Given the description of an element on the screen output the (x, y) to click on. 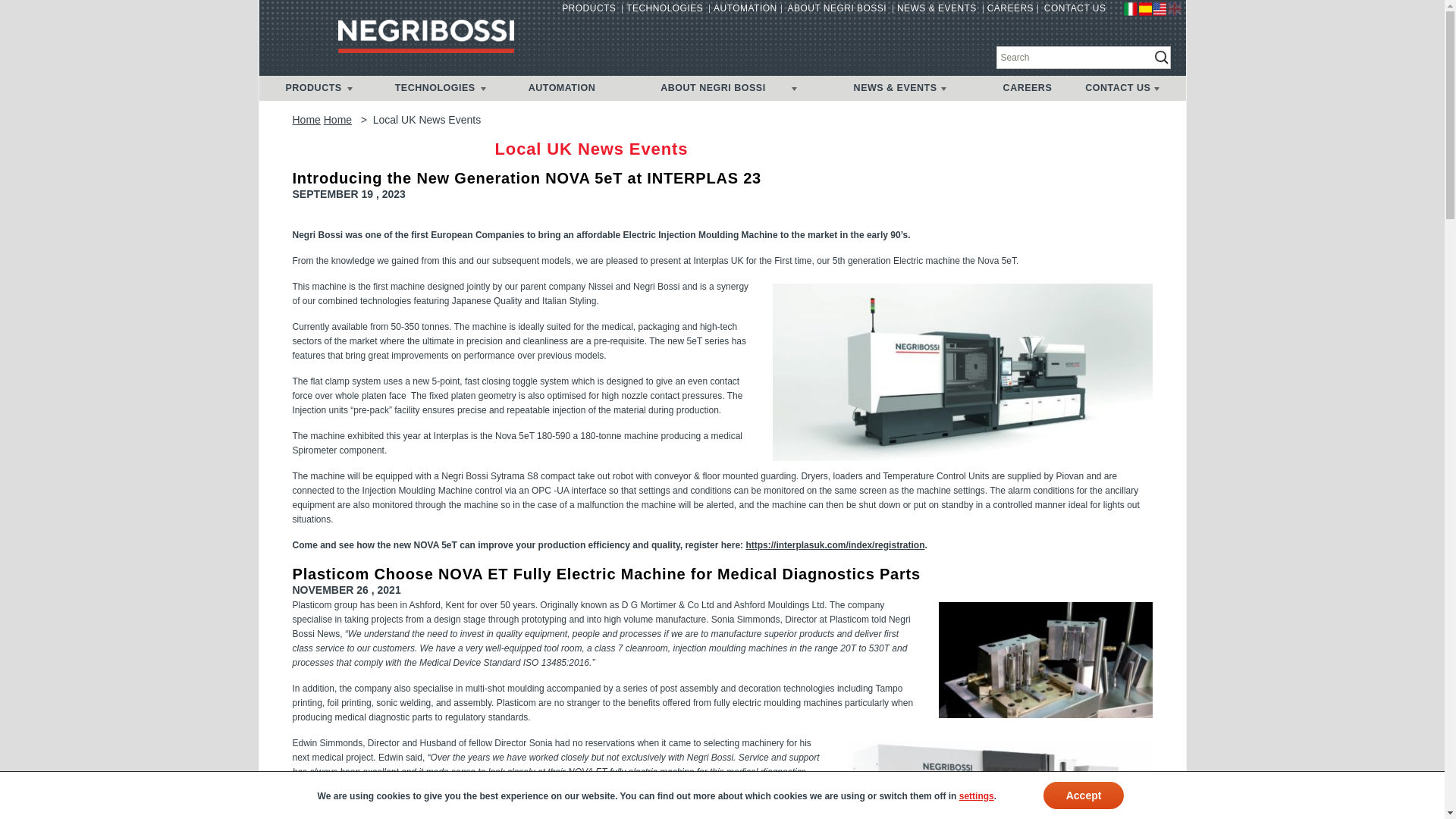
Italiano - Italian (1130, 8)
Search (1082, 56)
ABOUT NEGRI BOSSI (837, 10)
Negri Bossi (424, 35)
CONTACT US (1075, 10)
TECHNOLOGIES (664, 10)
Search (32, 14)
PRODUCTS (588, 10)
